Given the description of an element on the screen output the (x, y) to click on. 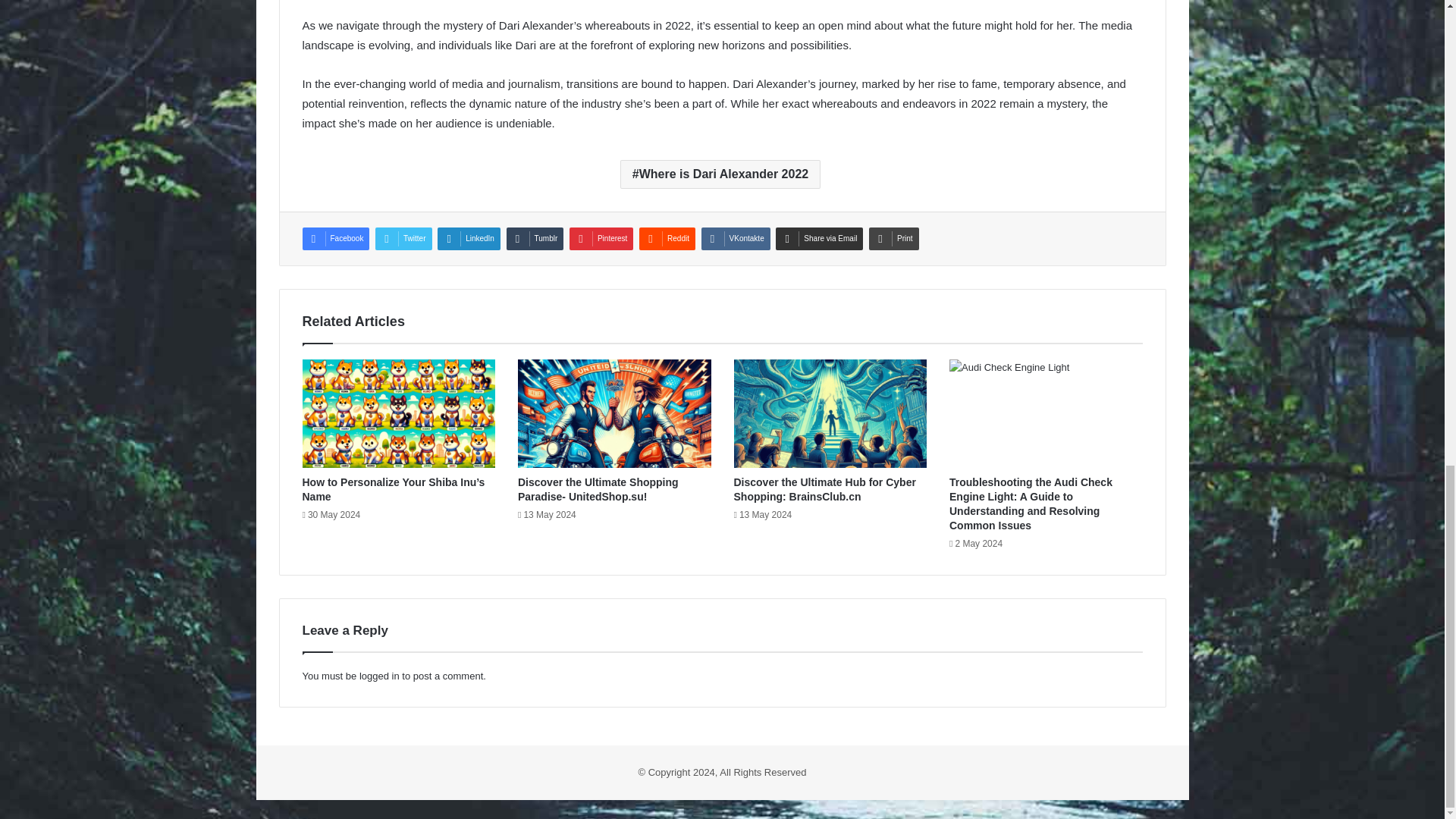
Tumblr (535, 238)
LinkedIn (469, 238)
Discover the Ultimate Shopping Paradise- UnitedShop.su! (598, 488)
Reddit (667, 238)
Twitter (402, 238)
Print (893, 238)
Reddit (667, 238)
Pinterest (601, 238)
Facebook (335, 238)
Print (893, 238)
LinkedIn (469, 238)
Share via Email (819, 238)
Facebook (335, 238)
Share via Email (819, 238)
Pinterest (601, 238)
